Given the description of an element on the screen output the (x, y) to click on. 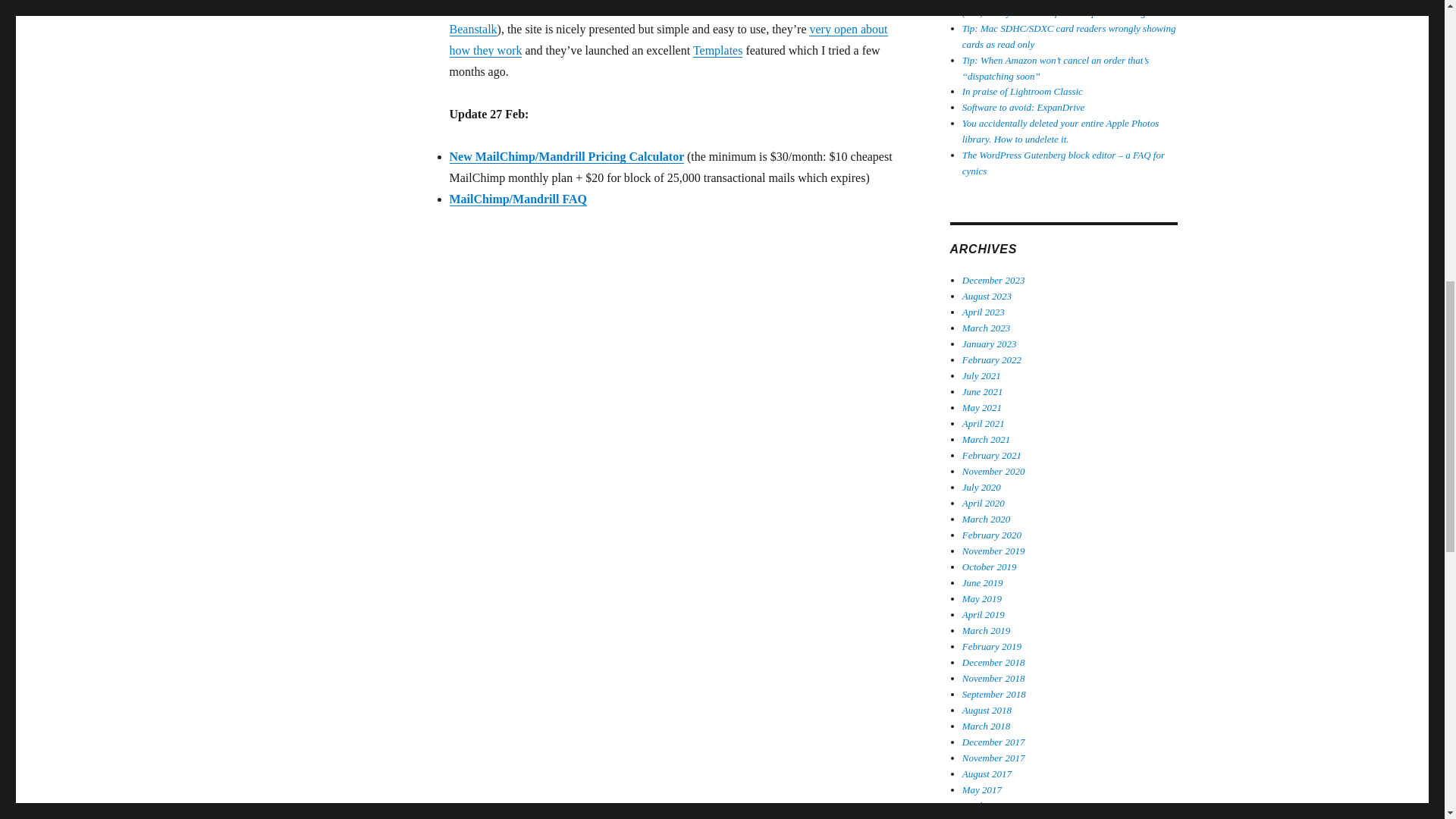
Beanstalk (472, 29)
Templates (717, 50)
Postmarkapp; (481, 7)
very open about how they work (667, 39)
